Given the description of an element on the screen output the (x, y) to click on. 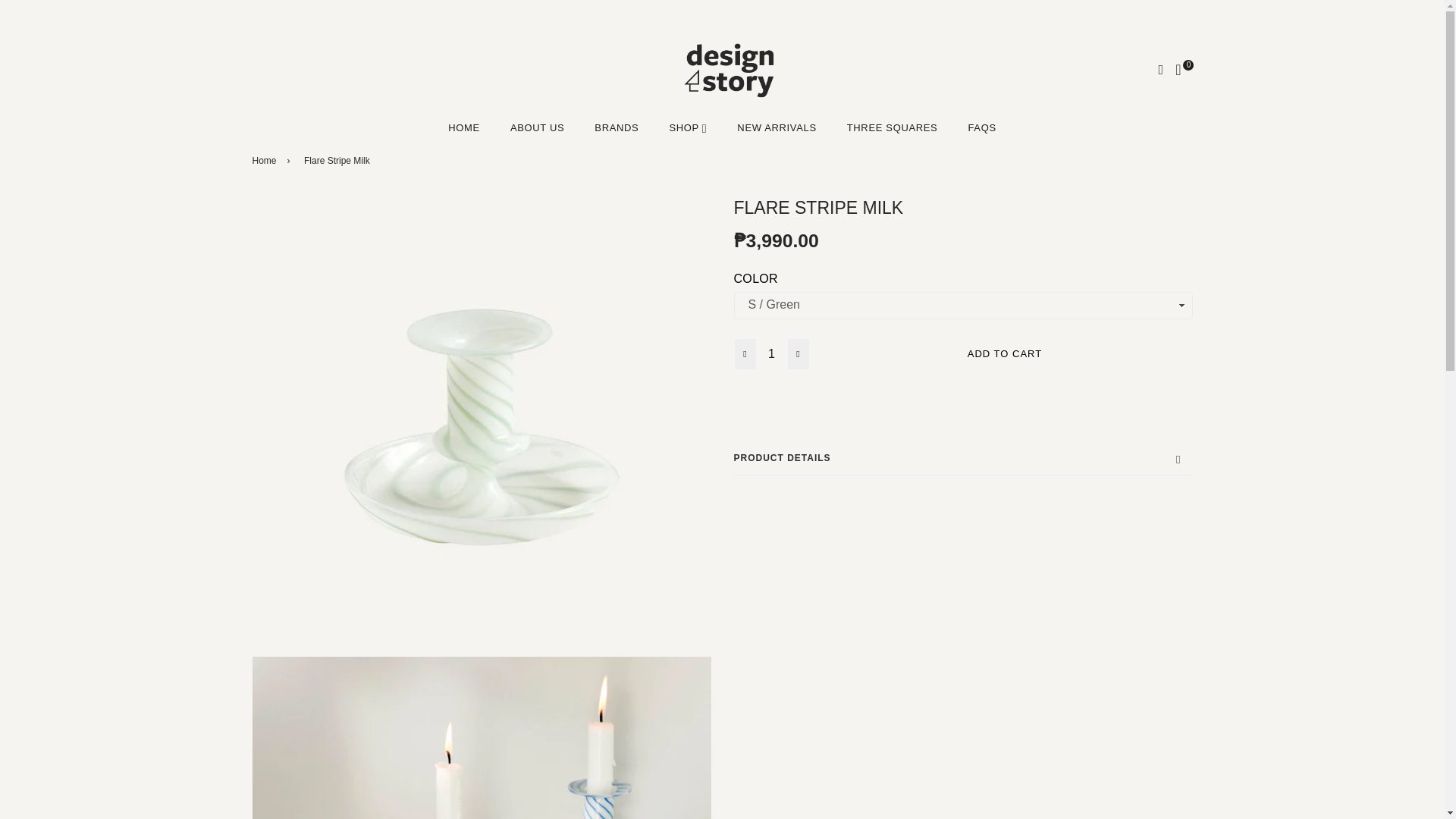
SHOP (687, 128)
ABOUT US (537, 128)
BRANDS (616, 128)
1 (772, 354)
Back to the home page (266, 160)
HOME (463, 128)
